Given the description of an element on the screen output the (x, y) to click on. 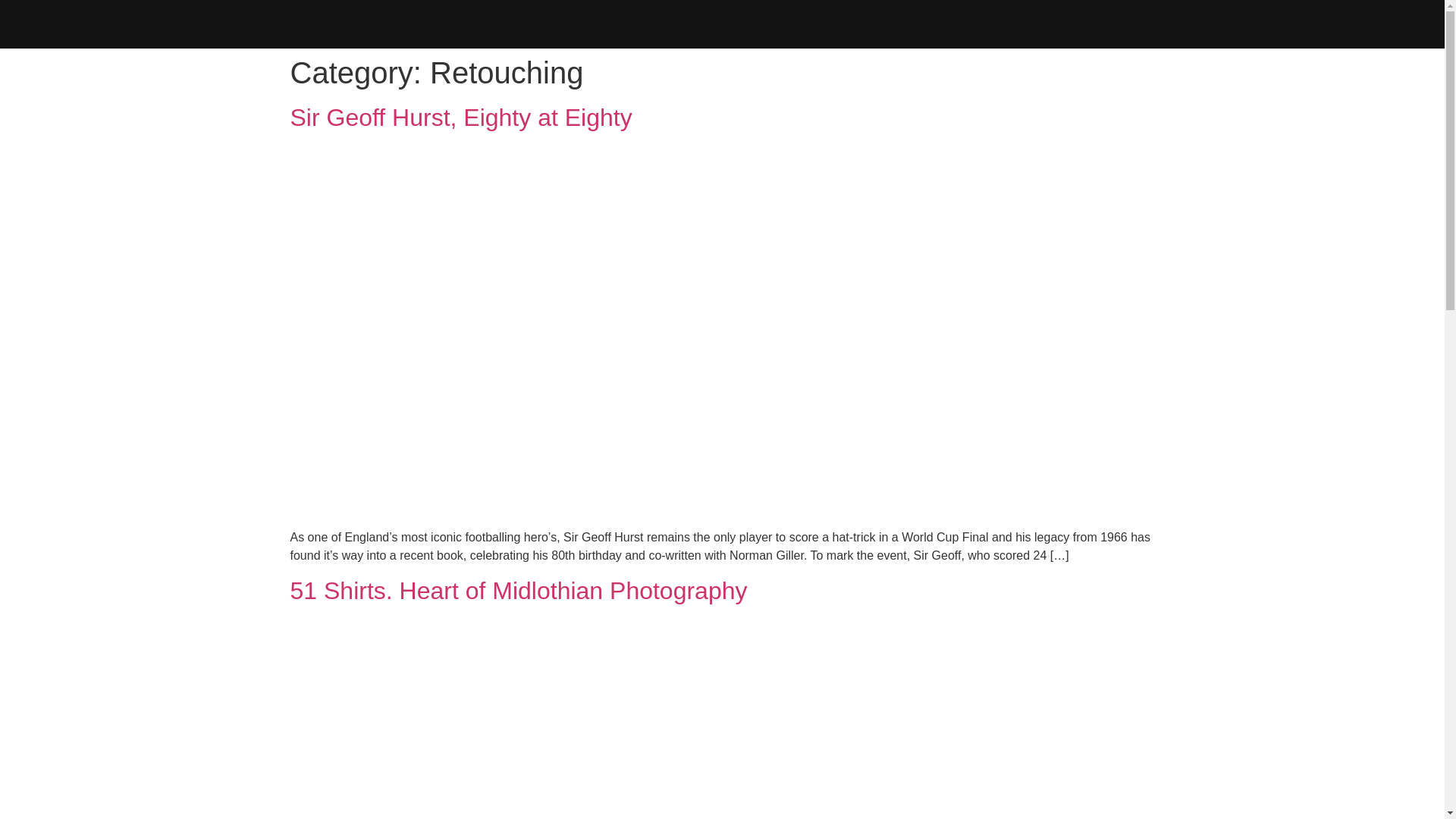
51 Shirts. Heart of Midlothian Photography (517, 590)
Sir Geoff Hurst, Eighty at Eighty (460, 117)
